Given the description of an element on the screen output the (x, y) to click on. 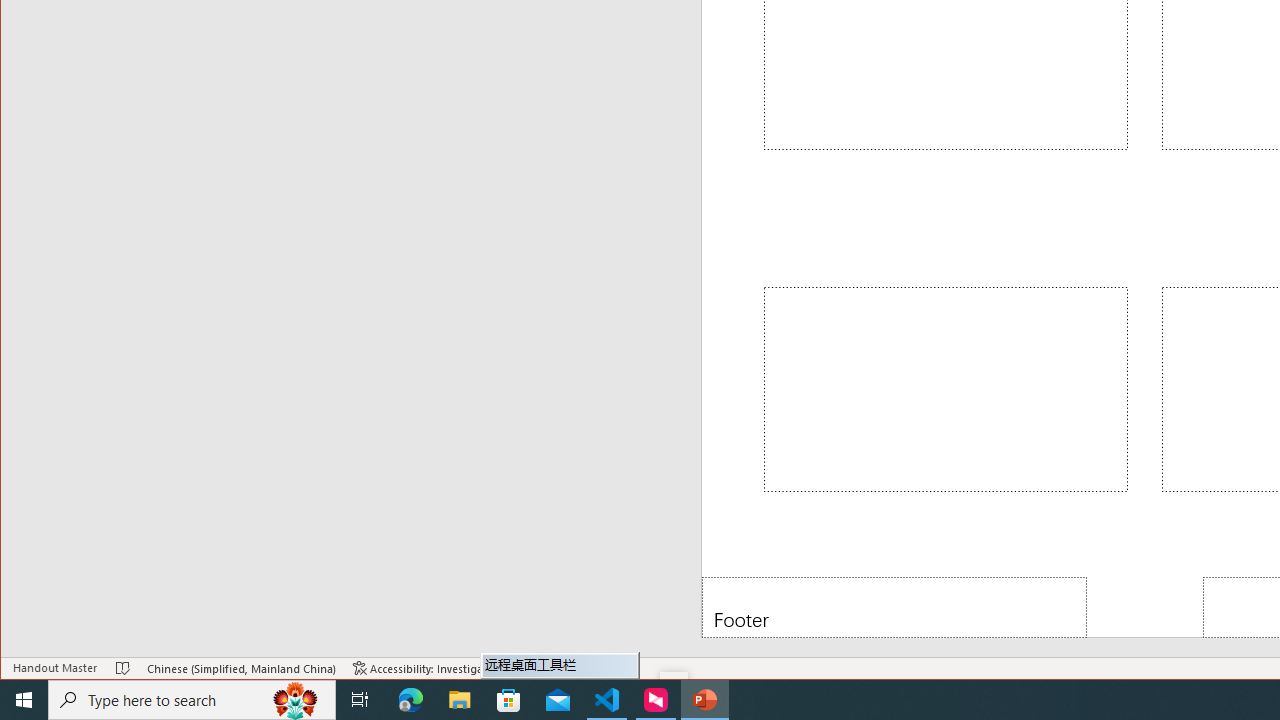
Microsoft Edge (411, 699)
Footer (893, 606)
